Given the description of an element on the screen output the (x, y) to click on. 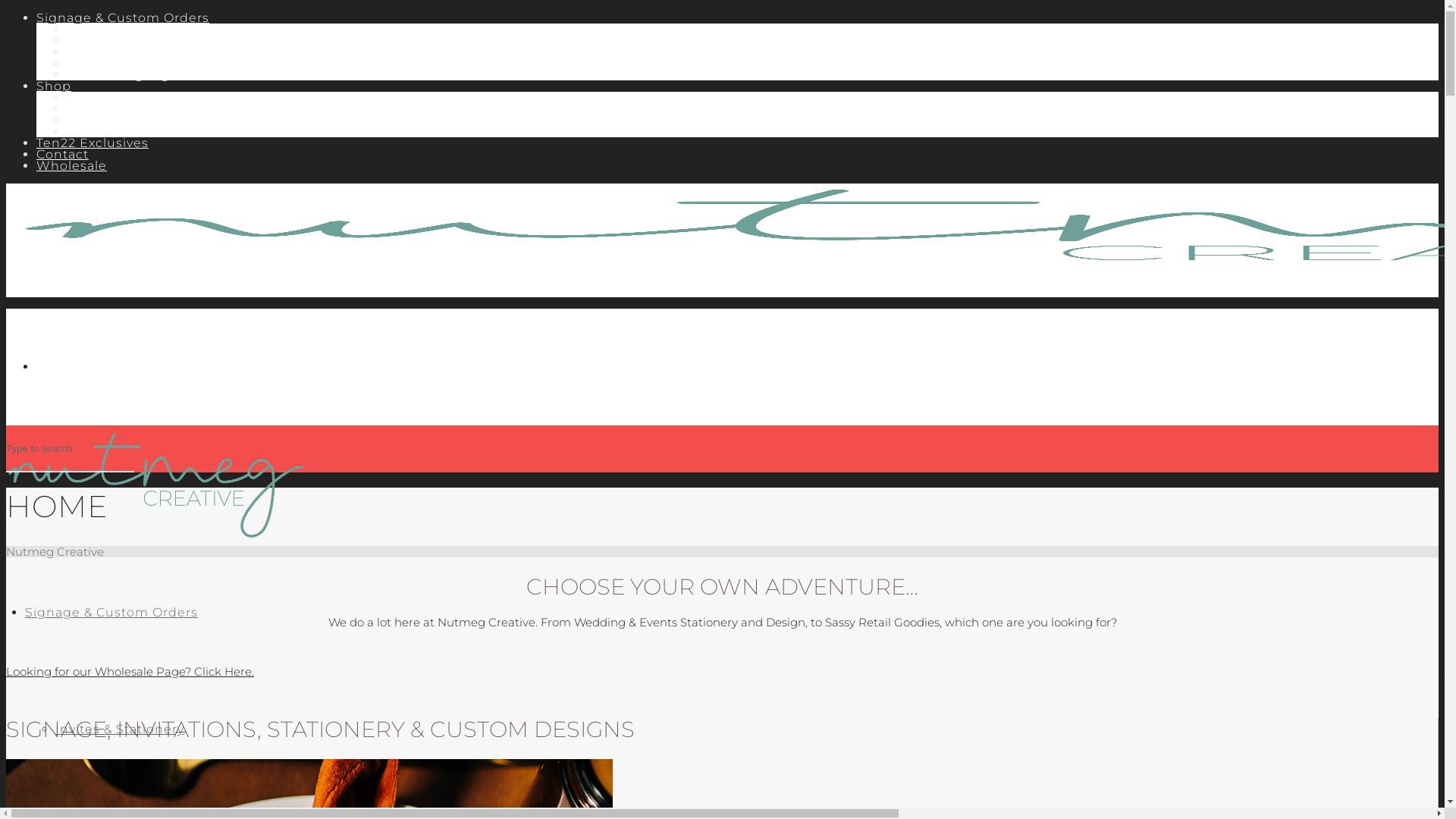
Custom Hand Painted Door Mats Element type: text (176, 131)
Invites & Stationery Element type: text (119, 728)
Signage & Custom Orders Element type: text (122, 17)
Shop Element type: text (83, 97)
Invites & Stationery Element type: text (130, 28)
Signage & Custom Orders Element type: text (152, 40)
Custom Signage for Purchase Element type: text (166, 74)
Custom Denim Jackets Element type: text (144, 63)
Wholesale Element type: text (71, 165)
Shop Element type: text (53, 85)
Wholesale Registration & Login Element type: text (171, 108)
Pieces for Hire Element type: text (115, 51)
Signage & Custom Orders Element type: text (111, 612)
Stockists & Friends Element type: text (129, 119)
Looking for our Wholesale Page? Click Here. Element type: text (130, 671)
Ten22 Exclusives Element type: text (92, 142)
Contact Element type: text (62, 154)
